Given the description of an element on the screen output the (x, y) to click on. 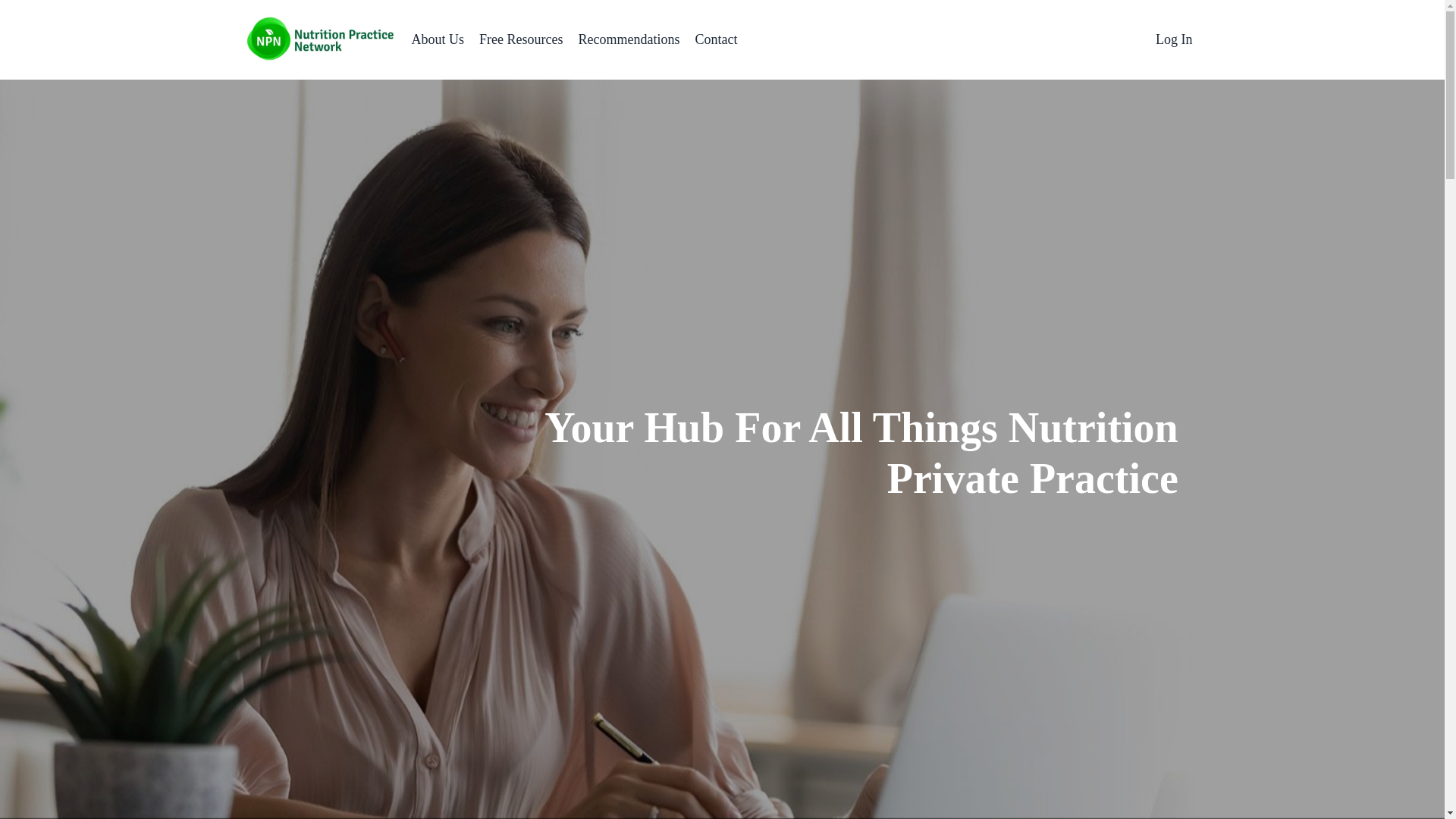
Recommendations (628, 39)
Log In (1174, 38)
About Us (437, 39)
Contact (715, 39)
Free Resources (520, 39)
